Given the description of an element on the screen output the (x, y) to click on. 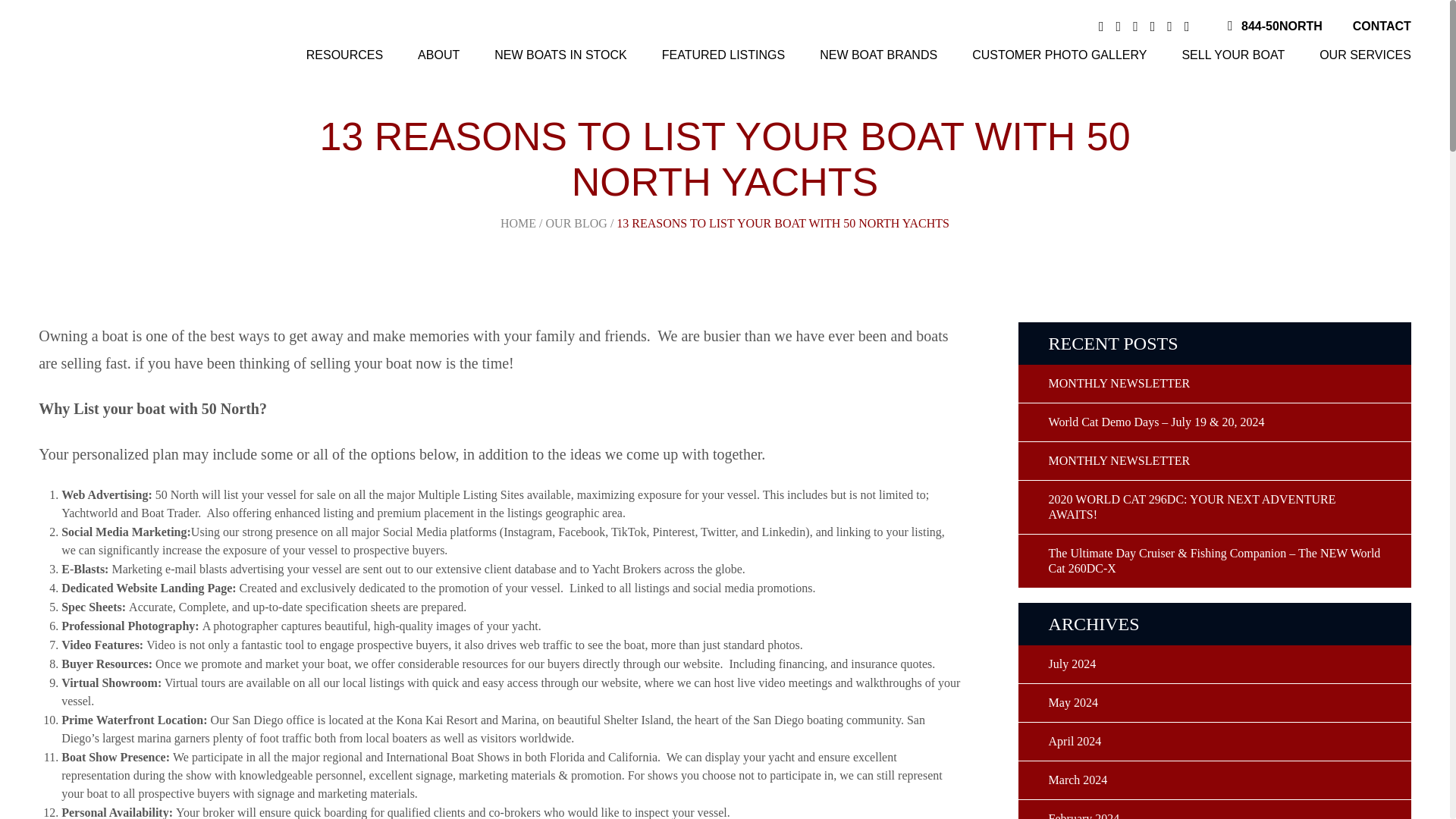
NEW BOAT BRANDS (878, 58)
ABOUT (438, 58)
844-50NORTH (1281, 25)
Go to 50 North Yachts. (517, 223)
RESOURCES (343, 58)
CONTACT (1381, 25)
Go to the Our Blog category archives. (576, 223)
FEATURED LISTINGS (723, 58)
NEW BOATS IN STOCK (561, 58)
